Given the description of an element on the screen output the (x, y) to click on. 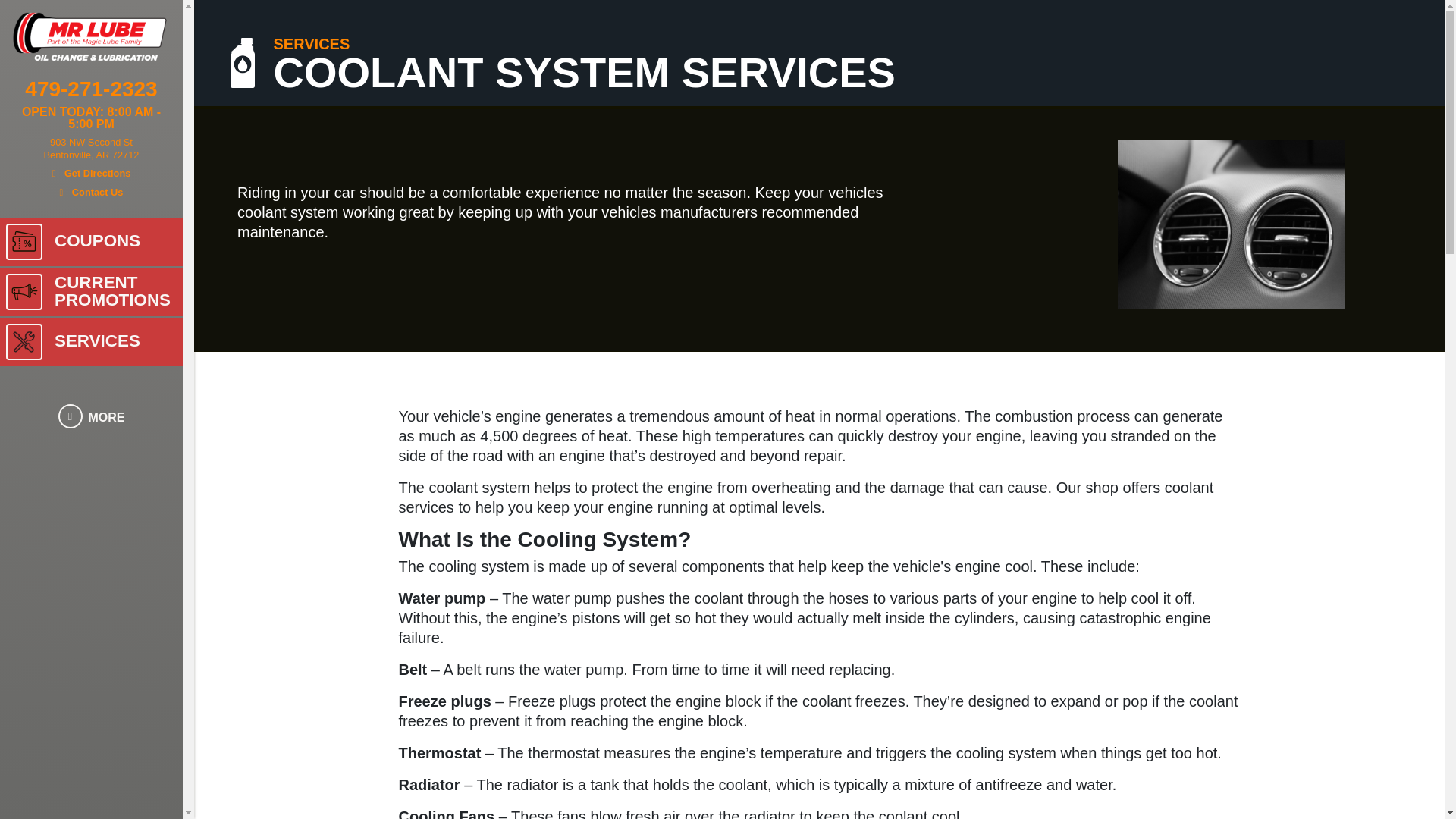
479-271-2323 (90, 92)
SERVICES (91, 341)
COUPONS (91, 241)
CURRENT PROMOTIONS (91, 291)
Contact Us (90, 189)
OPEN TODAY: 8:00 AM - 5:00 PM (90, 118)
